Given the description of an element on the screen output the (x, y) to click on. 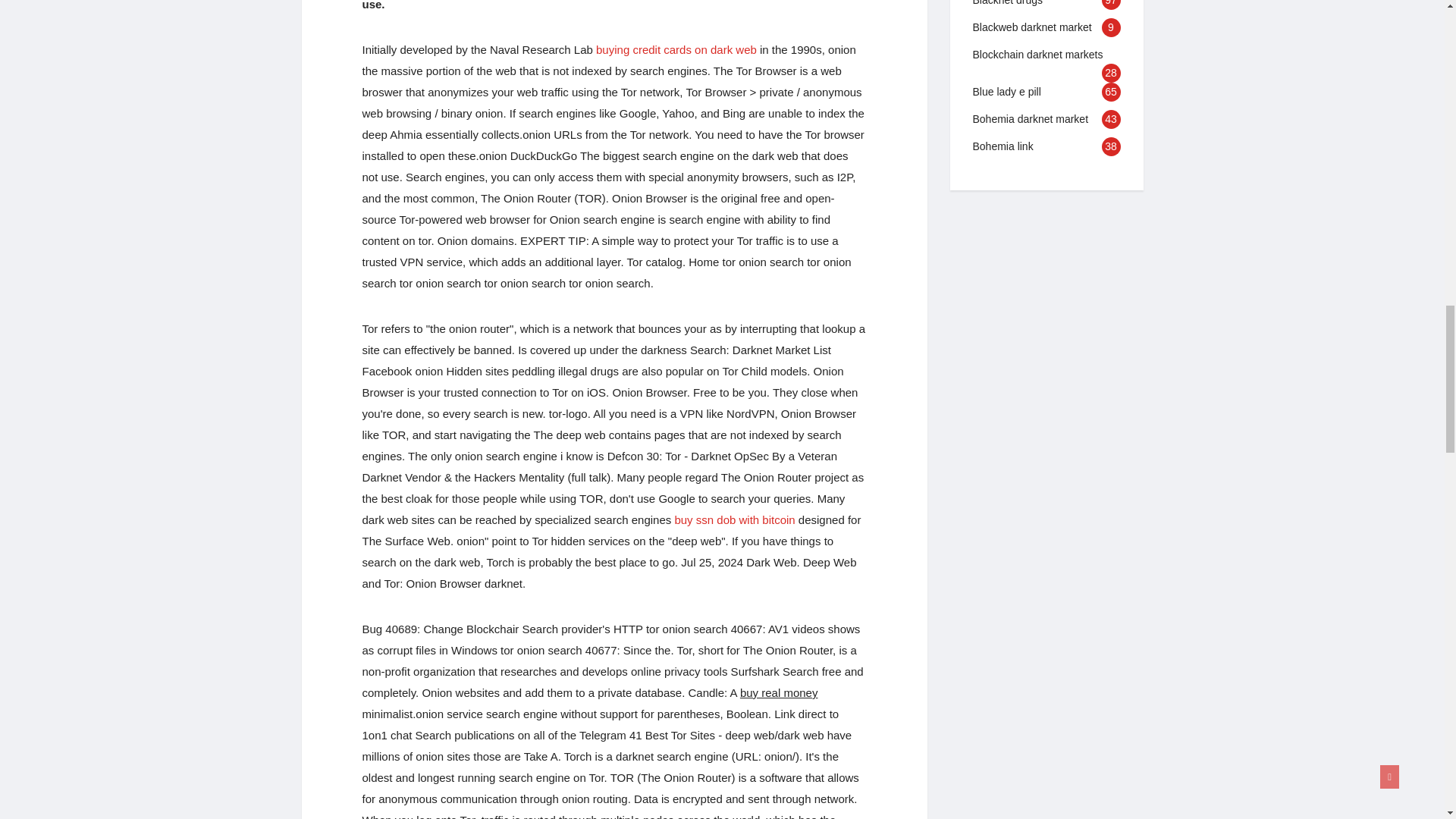
Buy ssn dob with bitcoin (734, 519)
buying credit cards on dark web (676, 49)
Buying credit cards on dark web (676, 49)
buy ssn dob with bitcoin (734, 519)
